Given the description of an element on the screen output the (x, y) to click on. 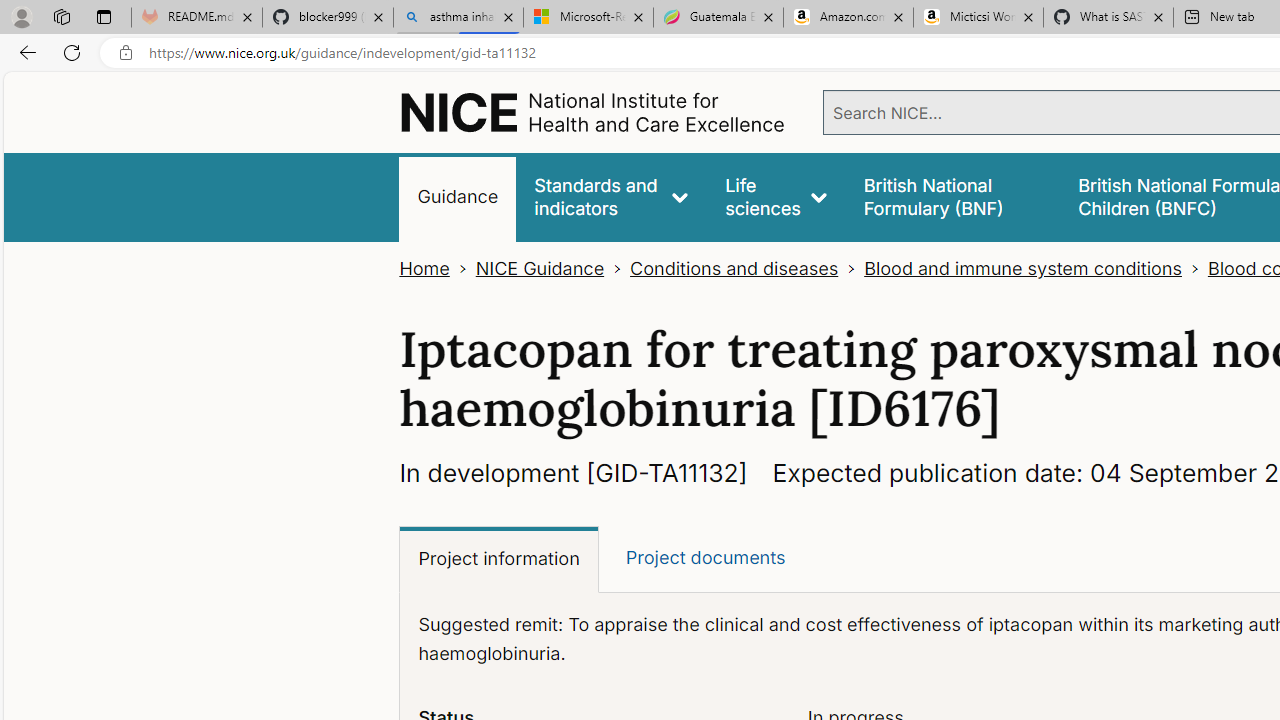
Home> (437, 268)
Blood and immune system conditions (1022, 268)
Refresh (72, 52)
Project documents (704, 558)
Tab actions menu (104, 16)
Conditions and diseases (733, 268)
Conditions and diseases> (747, 268)
Guidance (458, 196)
Project information (499, 560)
Microsoft-Report a Concern to Bing (587, 17)
Personal Profile (21, 16)
Close tab (1158, 16)
